Given the description of an element on the screen output the (x, y) to click on. 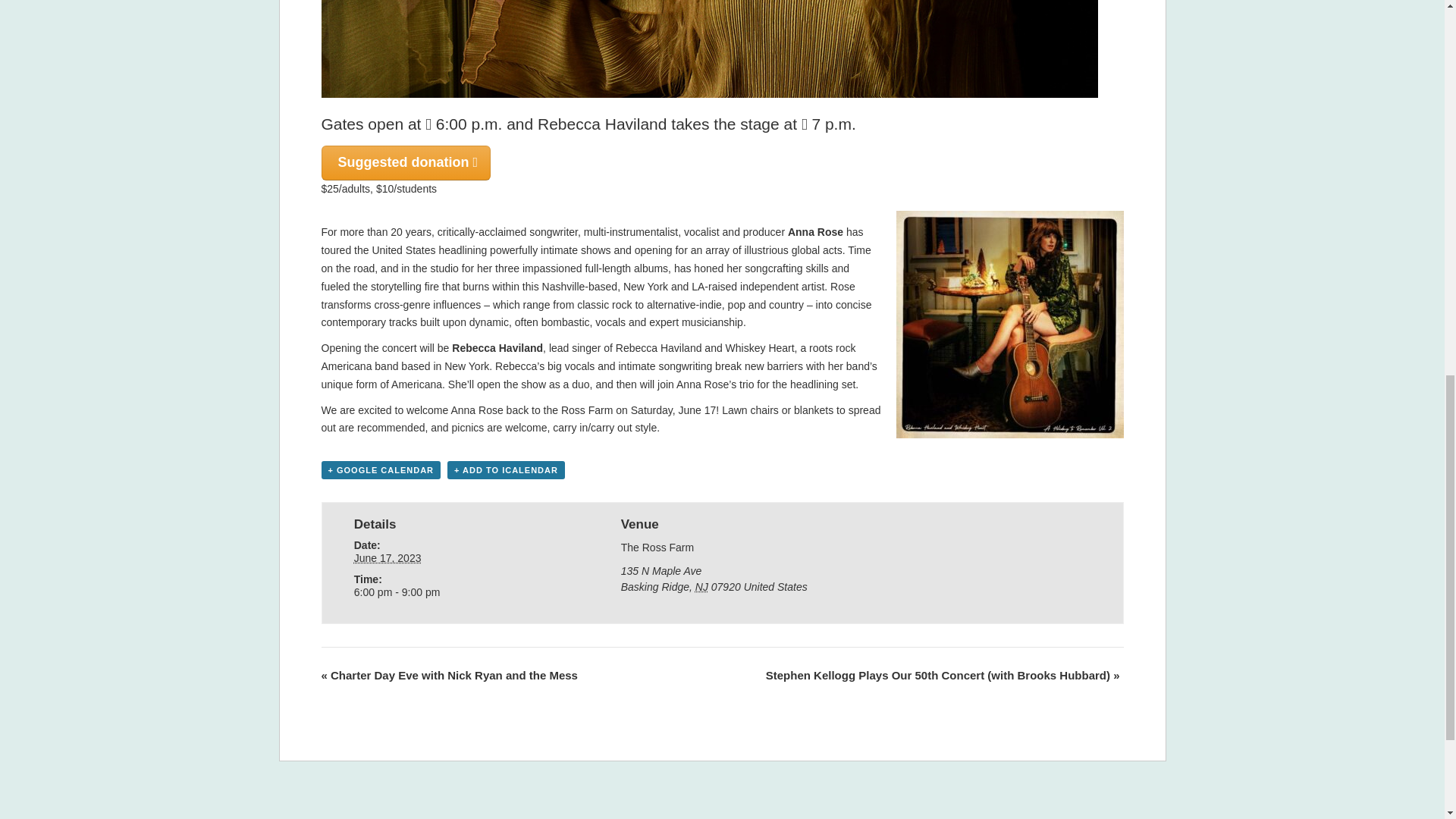
Suggested donation (406, 162)
Add to Google Calendar (381, 470)
2023-06-17 (455, 592)
2023-06-17 (387, 558)
New Jersey (701, 586)
Download .ics file (505, 470)
